Given the description of an element on the screen output the (x, y) to click on. 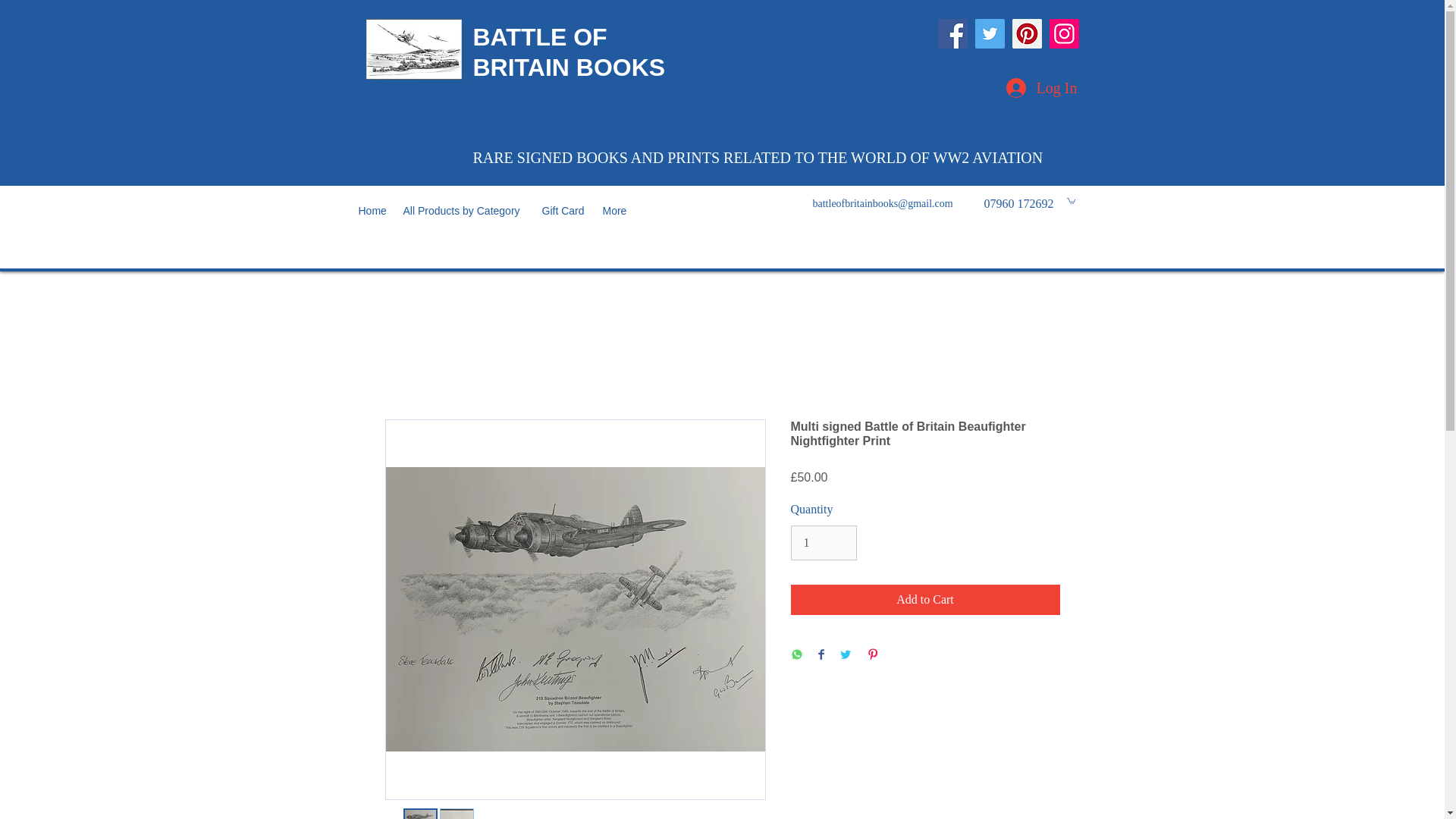
All Products by Category (465, 210)
Add to Cart (924, 599)
Home (372, 210)
1 (823, 542)
Log In (1040, 87)
Gift Card (564, 210)
